Given the description of an element on the screen output the (x, y) to click on. 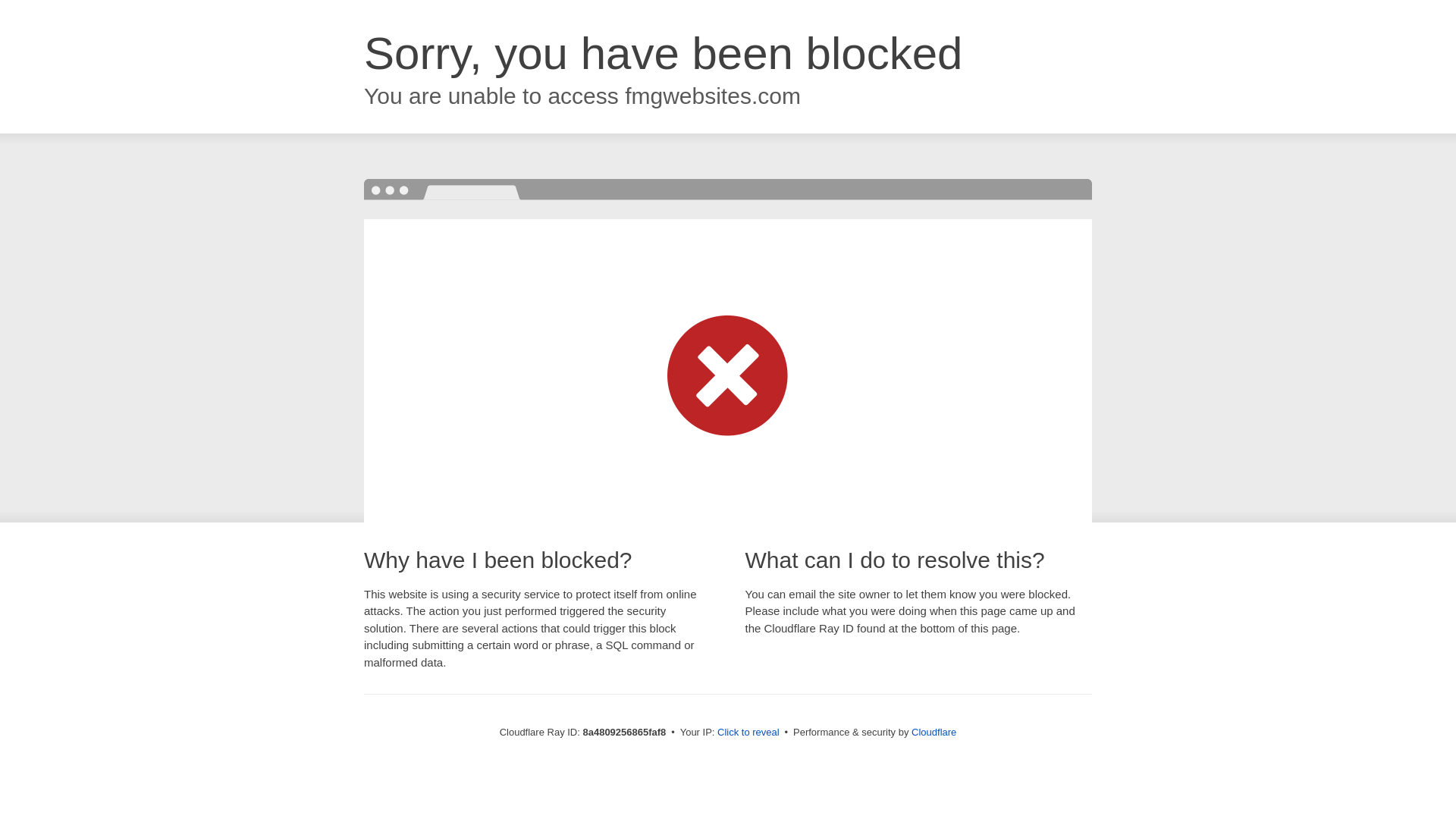
Cloudflare (933, 731)
Click to reveal (747, 732)
